Given the description of an element on the screen output the (x, y) to click on. 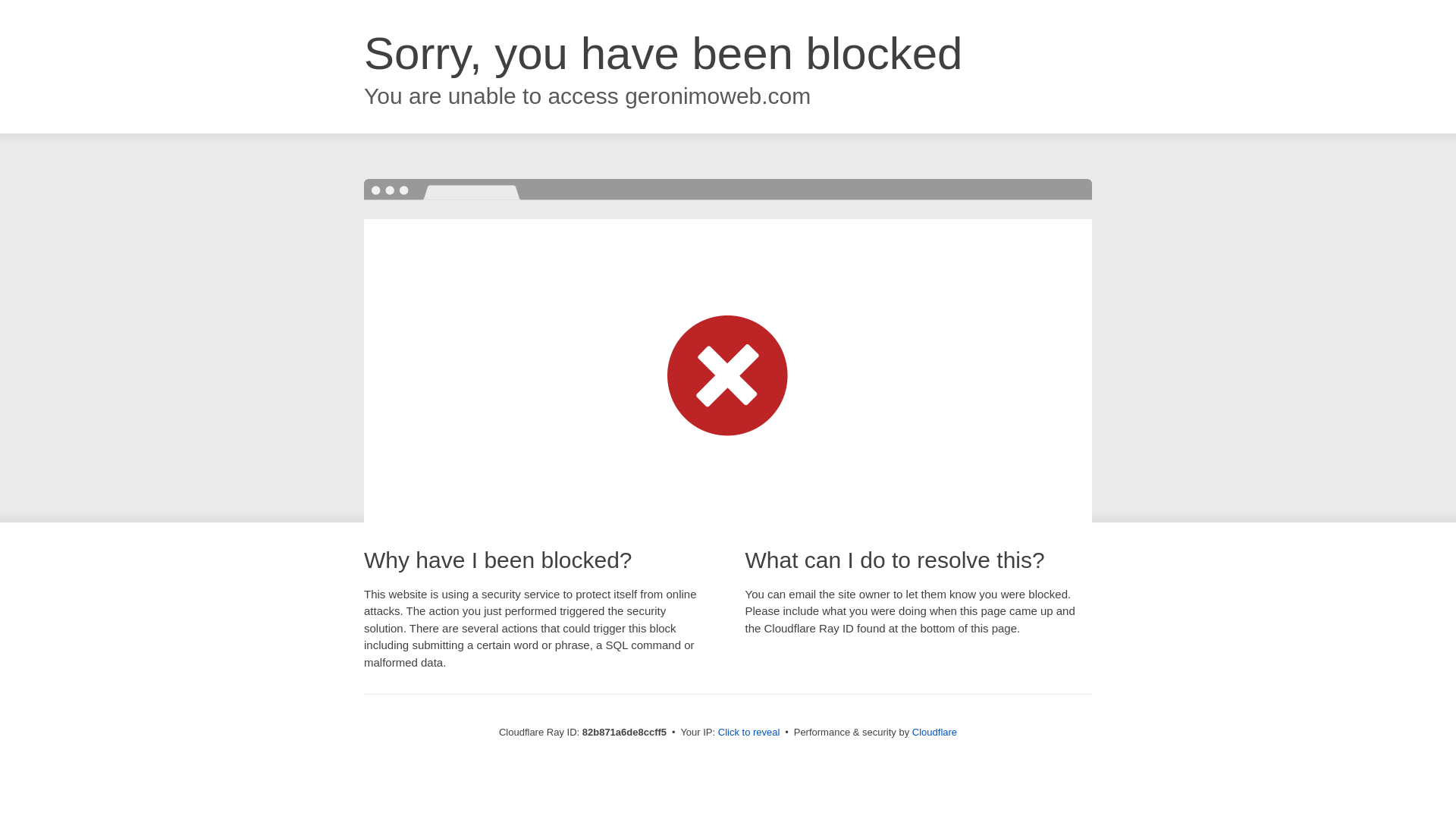
Click to reveal Element type: text (749, 732)
Cloudflare Element type: text (934, 731)
